Given the description of an element on the screen output the (x, y) to click on. 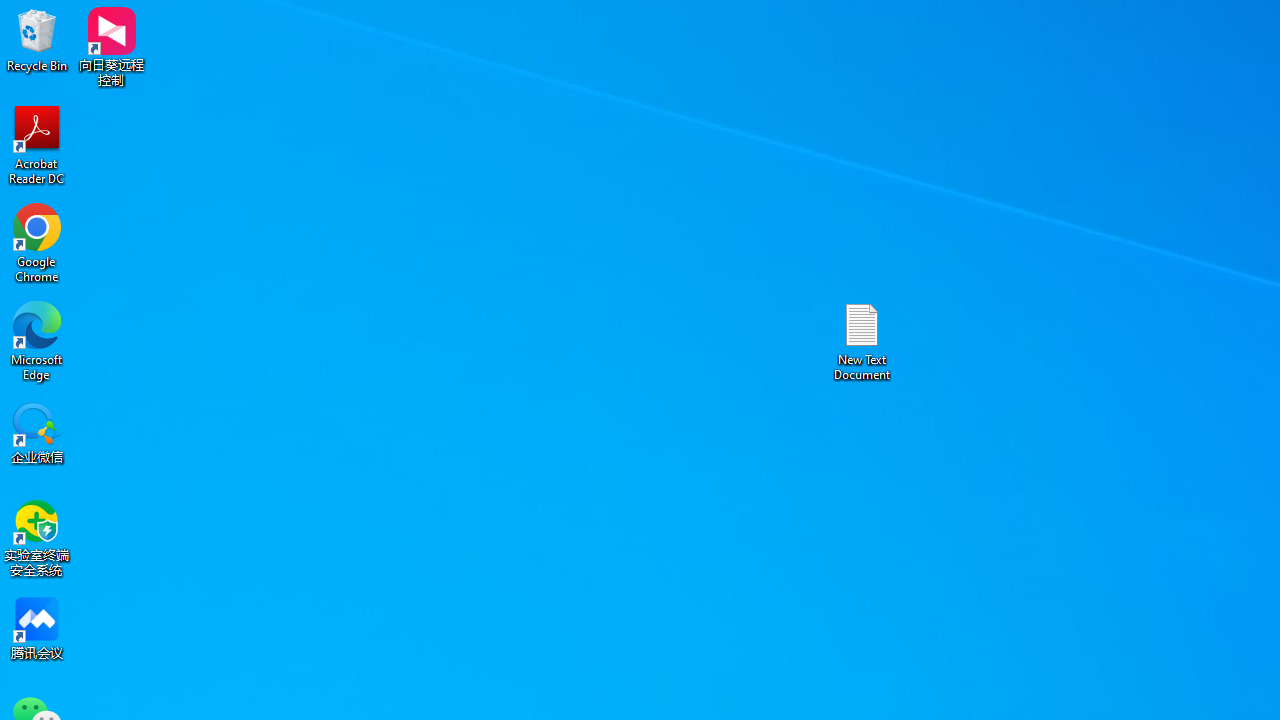
Recycle Bin (37, 39)
Acrobat Reader DC (37, 144)
Google Chrome (37, 242)
New Text Document (861, 340)
Microsoft Edge (37, 340)
